Given the description of an element on the screen output the (x, y) to click on. 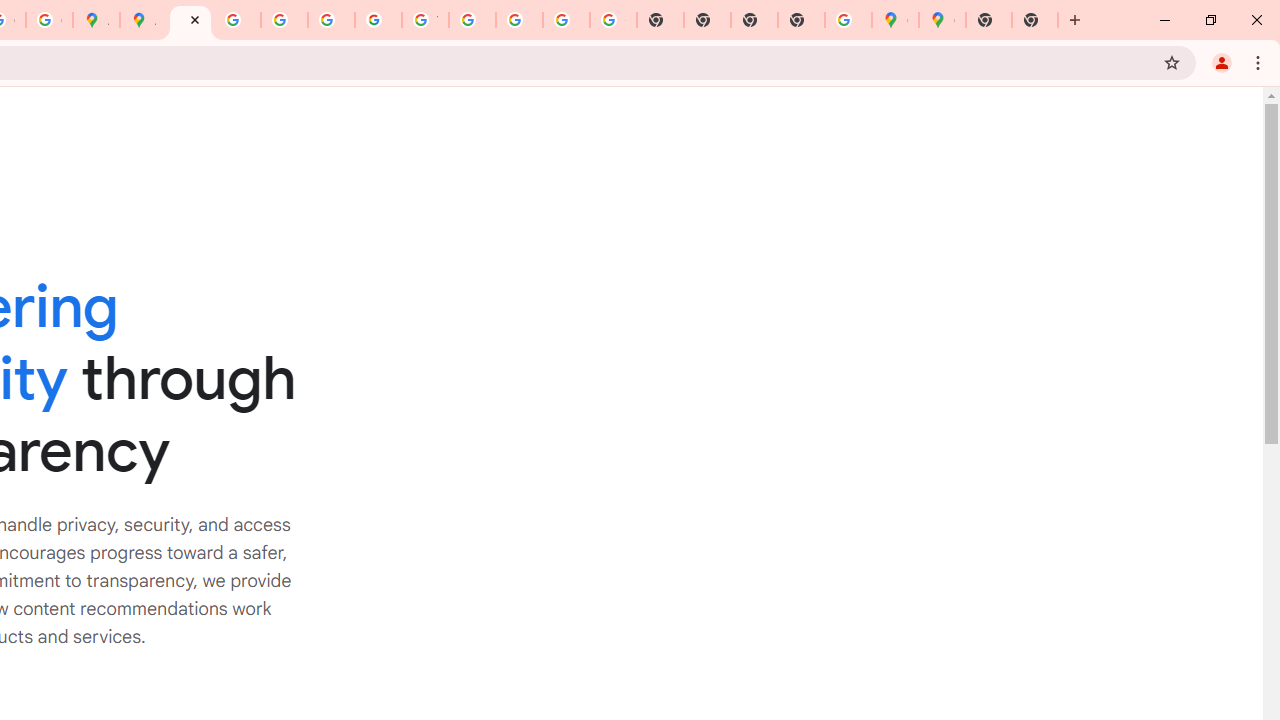
Privacy Help Center - Policies Help (237, 20)
New Tab (801, 20)
New Tab (1035, 20)
YouTube (425, 20)
Browse Chrome as a guest - Computer - Google Chrome Help (472, 20)
